Given the description of an element on the screen output the (x, y) to click on. 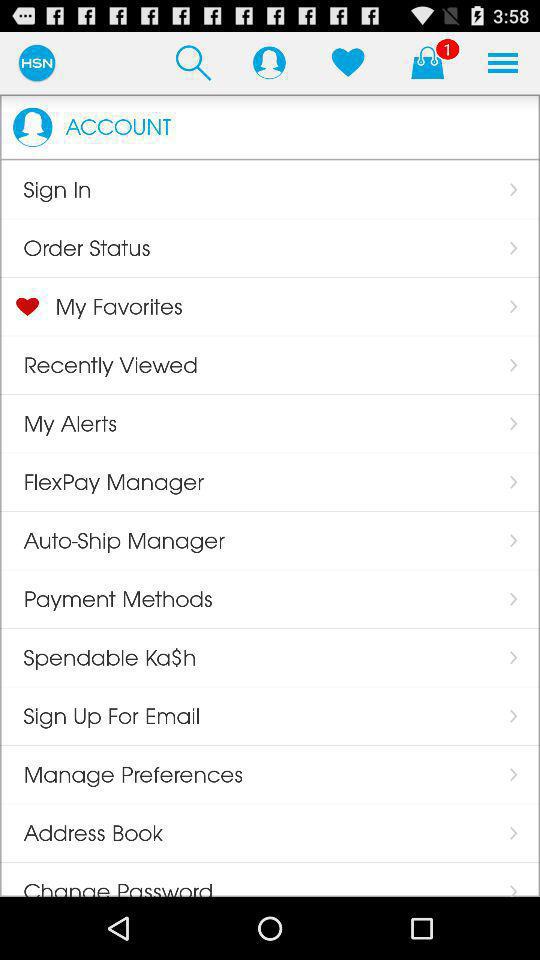
turn on spendable ka$h item (98, 657)
